Given the description of an element on the screen output the (x, y) to click on. 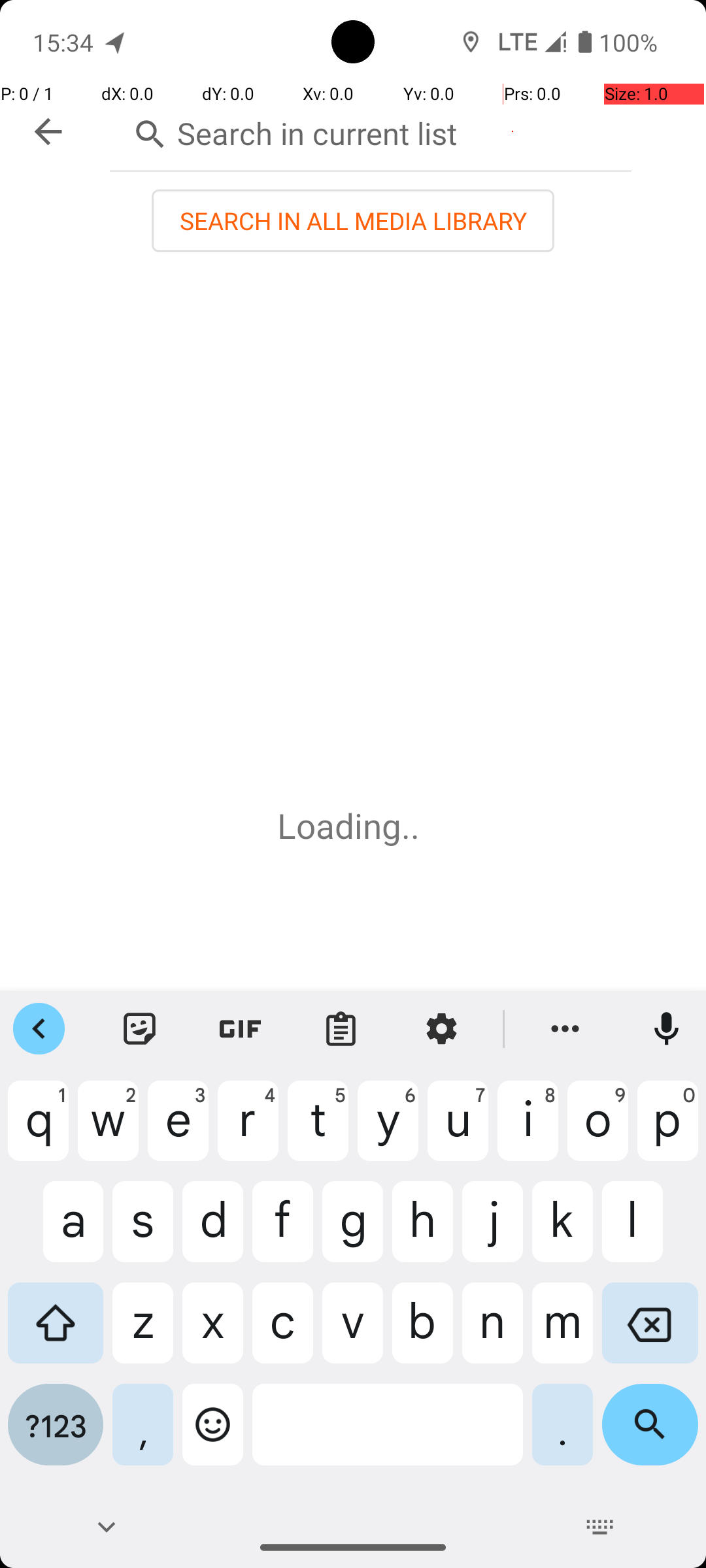
SEARCH IN ALL MEDIA LIBRARY Element type: android.widget.Button (352, 220)
   Search in current list Element type: android.widget.AutoCompleteTextView (370, 130)
